Given the description of an element on the screen output the (x, y) to click on. 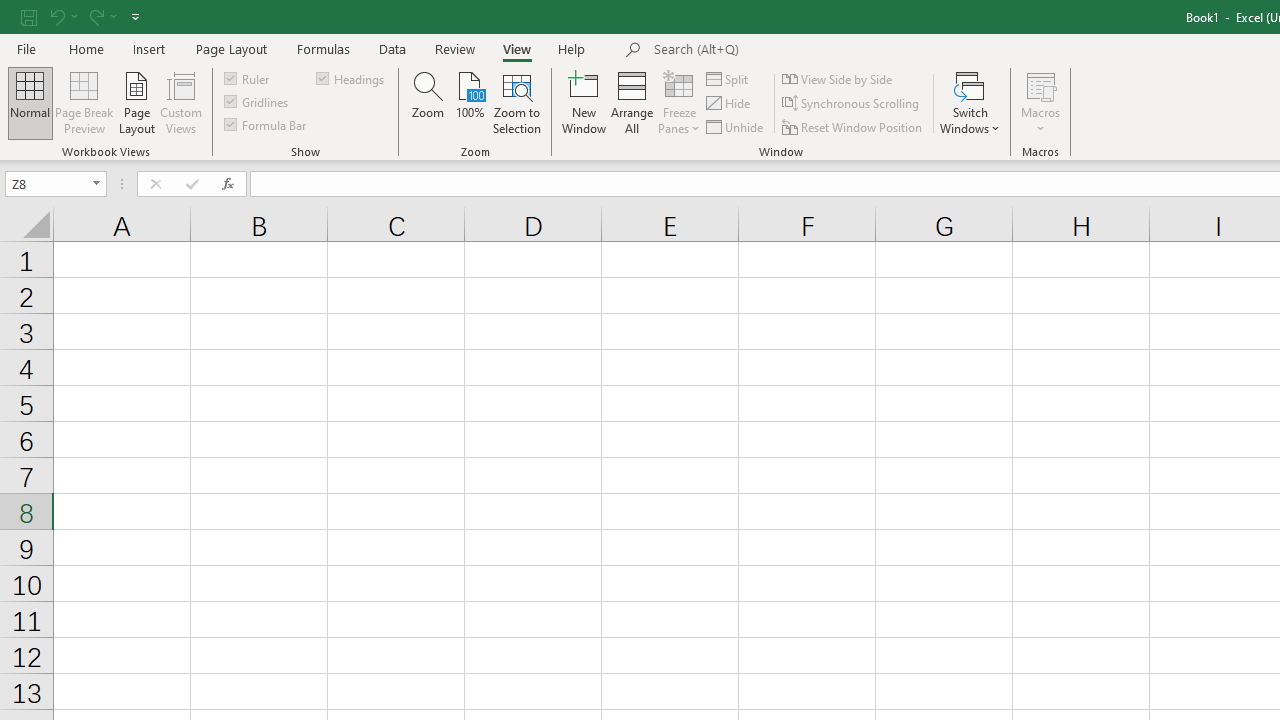
Unhide... (736, 126)
Synchronous Scrolling (852, 103)
Gridlines (257, 101)
Zoom... (428, 102)
Freeze Panes (678, 102)
100% (470, 102)
Arrange All (632, 102)
Zoom to Selection (517, 102)
Custom Views... (180, 102)
